Given the description of an element on the screen output the (x, y) to click on. 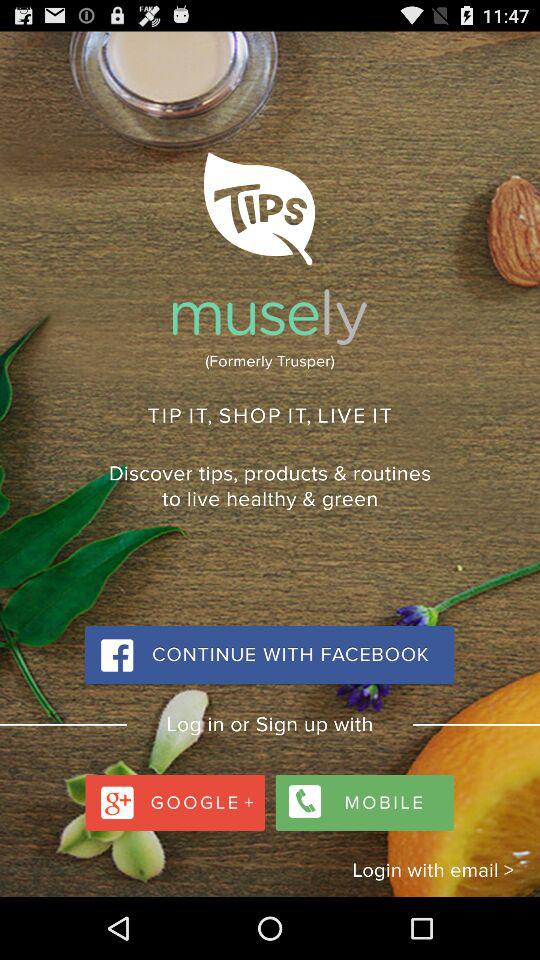
mobile option (362, 797)
